Given the description of an element on the screen output the (x, y) to click on. 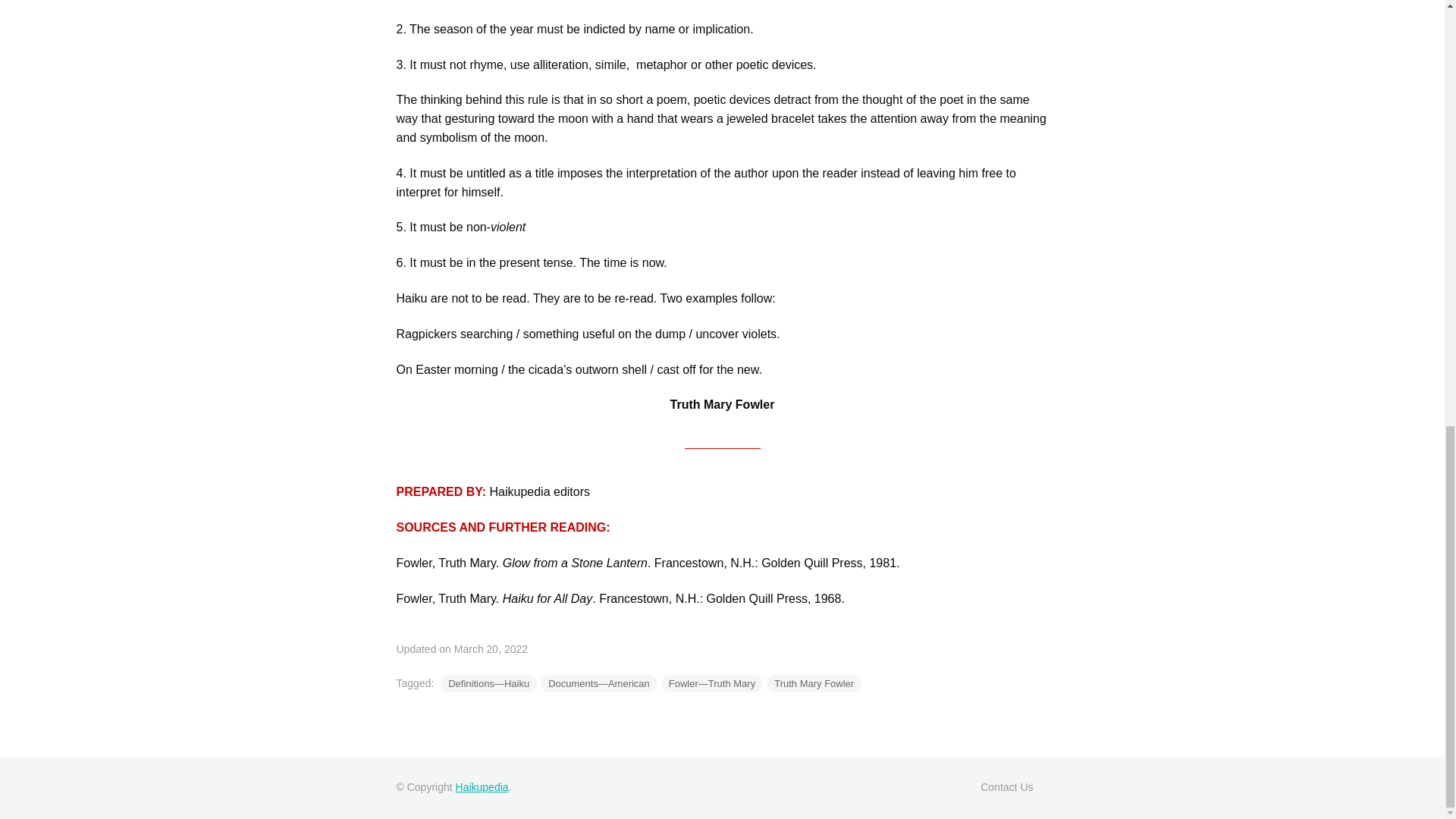
Truth Mary Fowler (814, 683)
Haikupedia (481, 787)
Contact Us (1005, 787)
